Given the description of an element on the screen output the (x, y) to click on. 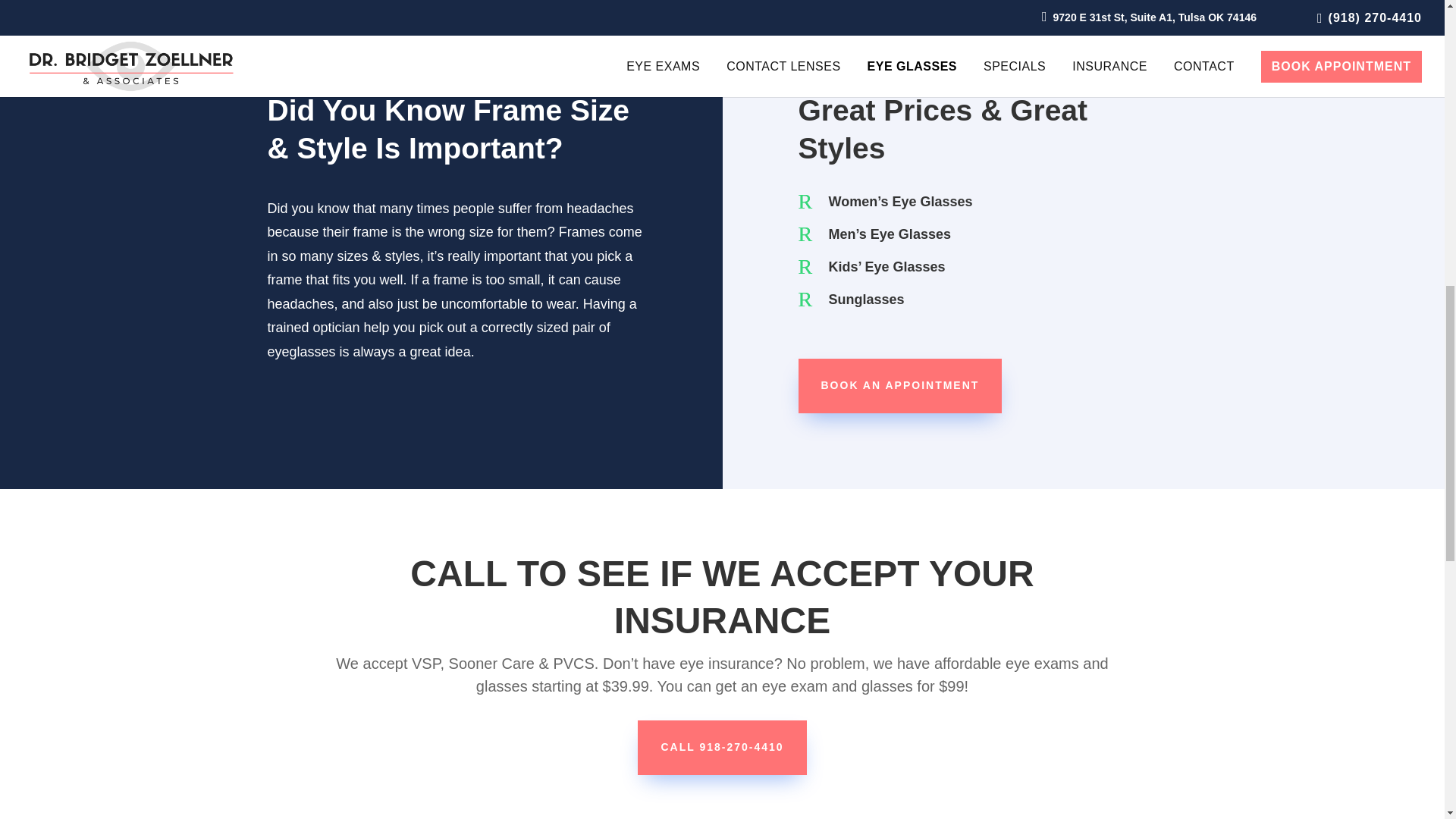
BOOK AN APPOINTMENT (899, 385)
CALL 918-270-4410 (721, 747)
